Given the description of an element on the screen output the (x, y) to click on. 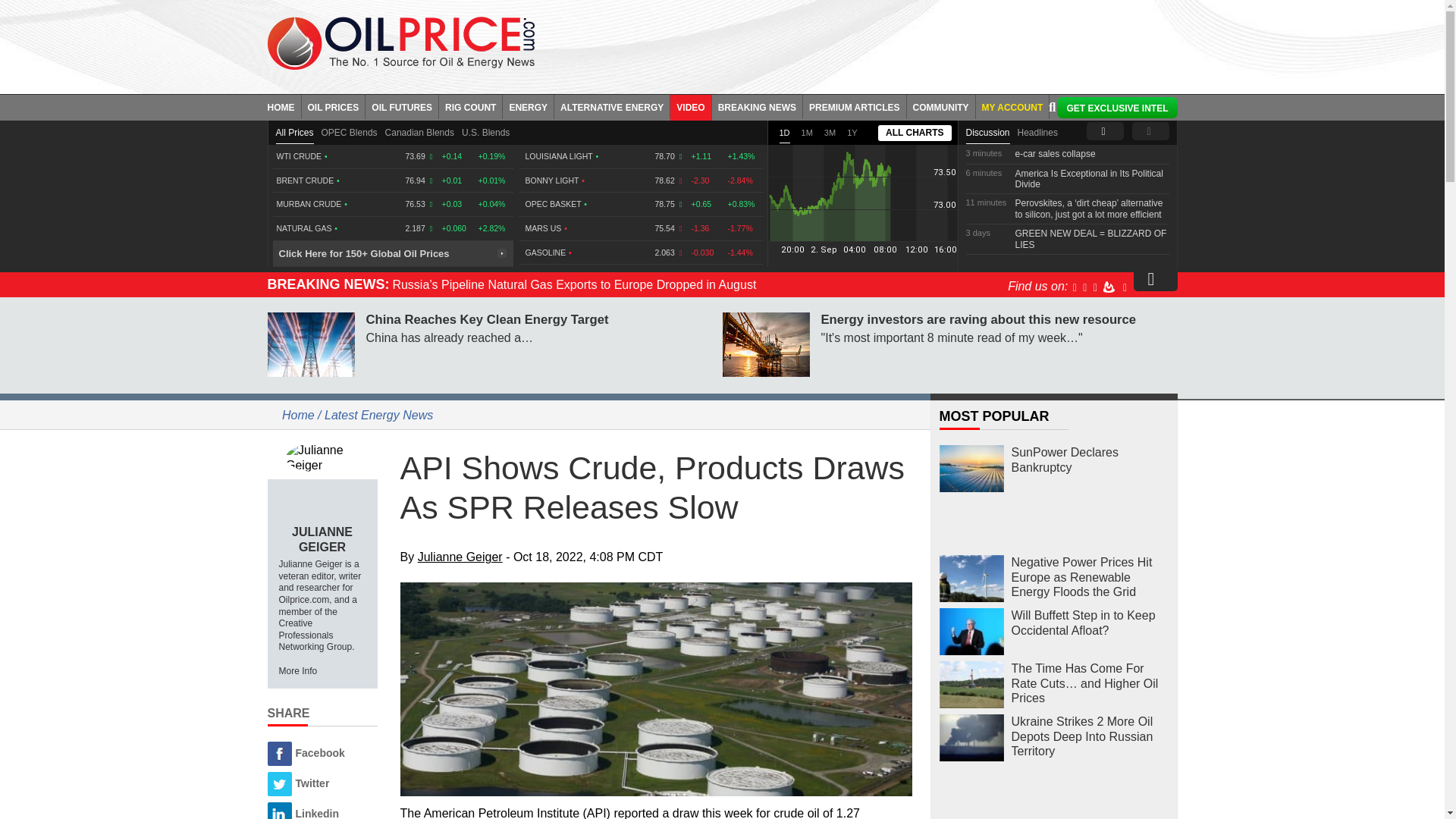
OIL PRICES (333, 106)
BREAKING NEWS (757, 106)
OIL FUTURES (402, 106)
ENERGY (528, 106)
ALTERNATIVE ENERGY (611, 106)
VIDEO (690, 106)
Will Buffett Step in to Keep Occidental Afloat? (971, 632)
RIG COUNT (470, 106)
PREMIUM ARTICLES (855, 106)
